Given the description of an element on the screen output the (x, y) to click on. 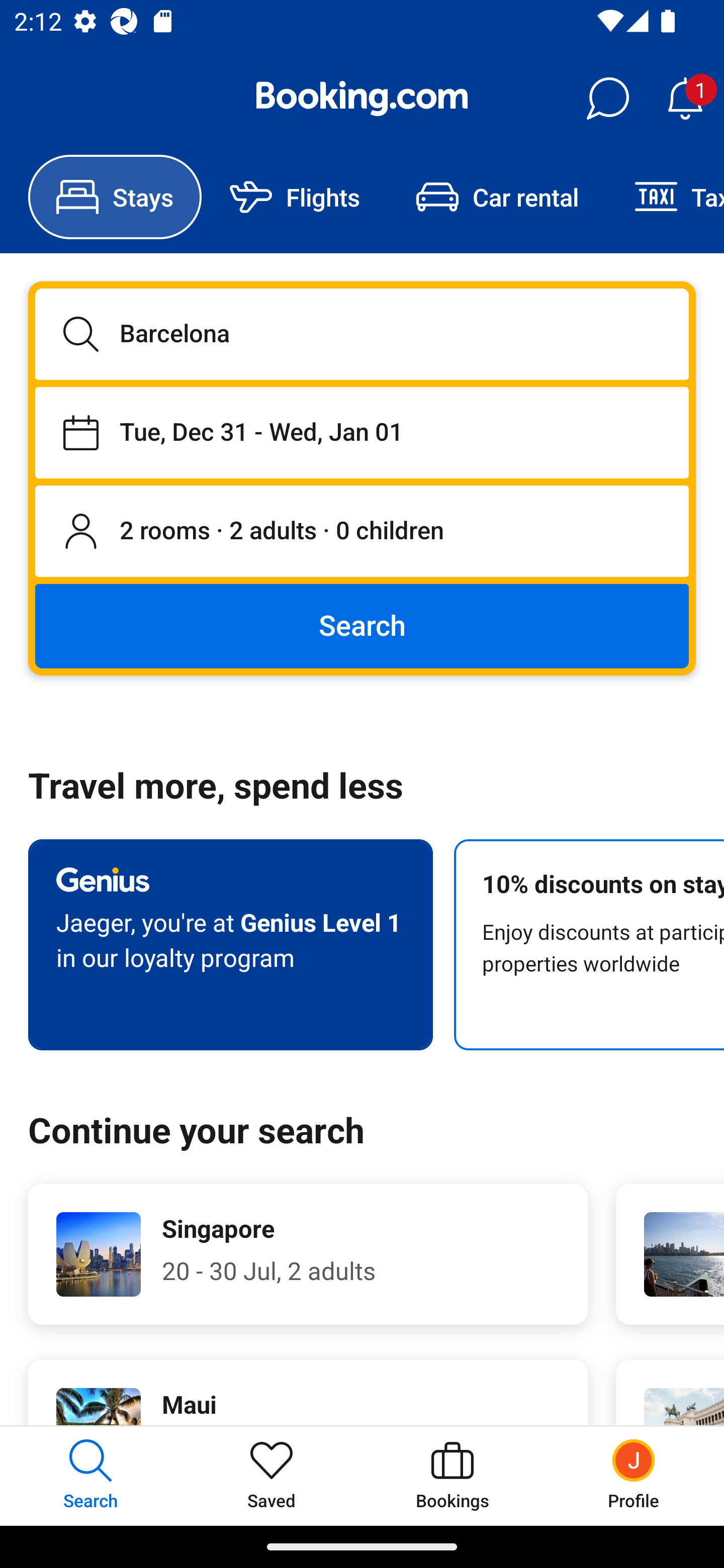
Messages (607, 98)
Notifications (685, 98)
Stays (114, 197)
Flights (294, 197)
Car rental (497, 197)
Taxi (665, 197)
Barcelona (361, 333)
Staying from Tue, Dec 31 until Wed, Jan 01 (361, 432)
2 rooms, 2 adults, 0 children (361, 531)
Search (361, 625)
Singapore 20 - 30 Jul, 2 adults (307, 1253)
Saved (271, 1475)
Bookings (452, 1475)
Profile (633, 1475)
